Given the description of an element on the screen output the (x, y) to click on. 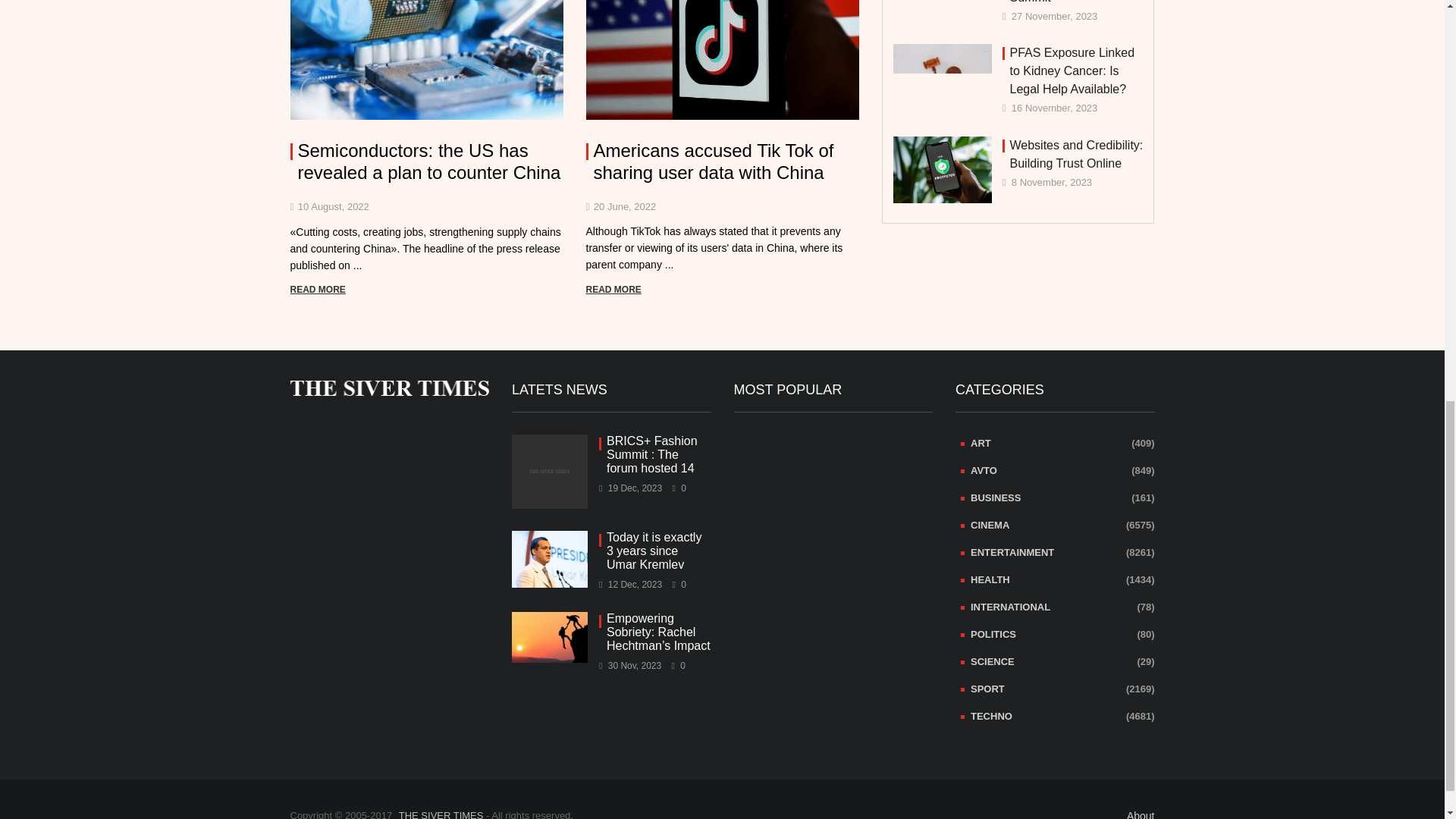
READ MORE (612, 289)
READ MORE (317, 289)
Semiconductors: the US has revealed a plan to counter China (425, 162)
Americans accused Tik Tok of sharing user data with China (722, 162)
